Given the description of an element on the screen output the (x, y) to click on. 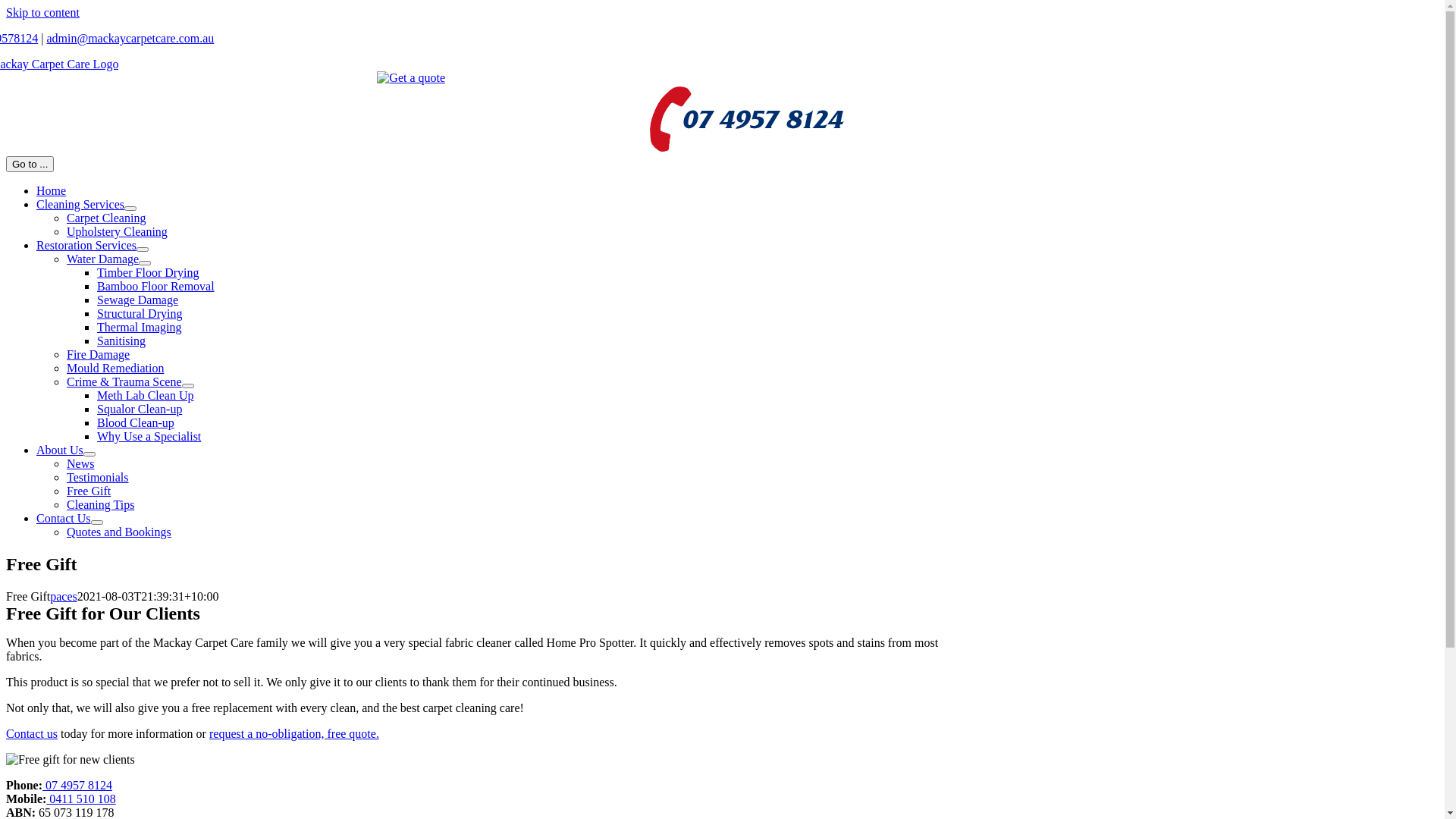
Squalor Clean-up Element type: text (139, 408)
0411 510 108 Element type: text (80, 798)
Blood Clean-up Element type: text (135, 422)
Home Element type: text (50, 190)
Skip to content Element type: text (42, 12)
Quotes and Bookings Element type: text (118, 531)
Why Use a Specialist Element type: text (148, 435)
paces Element type: text (63, 595)
Upholstery Cleaning Element type: text (116, 231)
Sanitising Element type: text (121, 340)
Sewage Damage Element type: text (137, 299)
Structural Drying Element type: text (139, 313)
Timber Floor Drying Element type: text (148, 272)
About Us Element type: text (59, 449)
Cleaning Services Element type: text (80, 203)
07 4957 8124 Element type: text (77, 784)
Contact us Element type: text (31, 733)
Fire Damage Element type: text (97, 354)
News Element type: text (80, 463)
Contact Us Element type: text (63, 517)
Free gift for new clients Element type: hover (70, 759)
Crime & Trauma Scene Element type: text (124, 381)
admin@mackaycarpetcare.com.au Element type: text (129, 37)
Mould Remediation Element type: text (114, 367)
Water Damage Element type: text (102, 258)
Bamboo Floor Removal Element type: text (155, 285)
request a no-obligation, free quote. Element type: text (294, 733)
Thermal Imaging Element type: text (139, 326)
Free Gift Element type: text (88, 490)
Restoration Services Element type: text (86, 244)
Go to ... Element type: text (29, 164)
Cleaning Tips Element type: text (100, 504)
Meth Lab Clean Up Element type: text (145, 395)
Carpet Cleaning Element type: text (105, 217)
Testimonials Element type: text (97, 476)
